Given the description of an element on the screen output the (x, y) to click on. 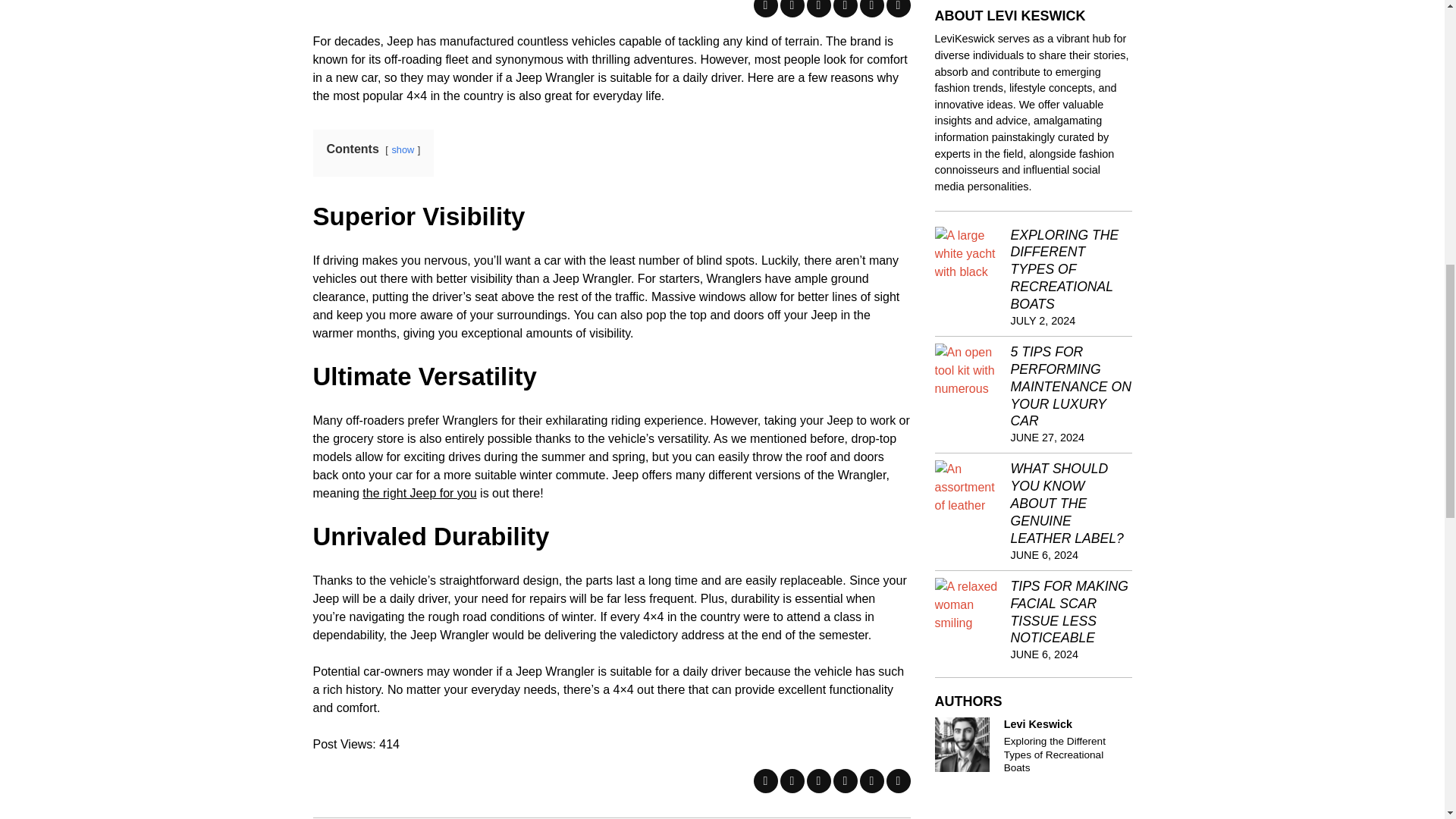
the right Jeep for you (419, 492)
06 Jun, 2024 17:11:52 (1044, 554)
show (402, 149)
27 Jun, 2024 14:49:16 (1047, 437)
02 Jul, 2024 19:54:07 (1042, 320)
Levi Keswick (961, 744)
06 Jun, 2024 15:10:51 (1044, 654)
